Given the description of an element on the screen output the (x, y) to click on. 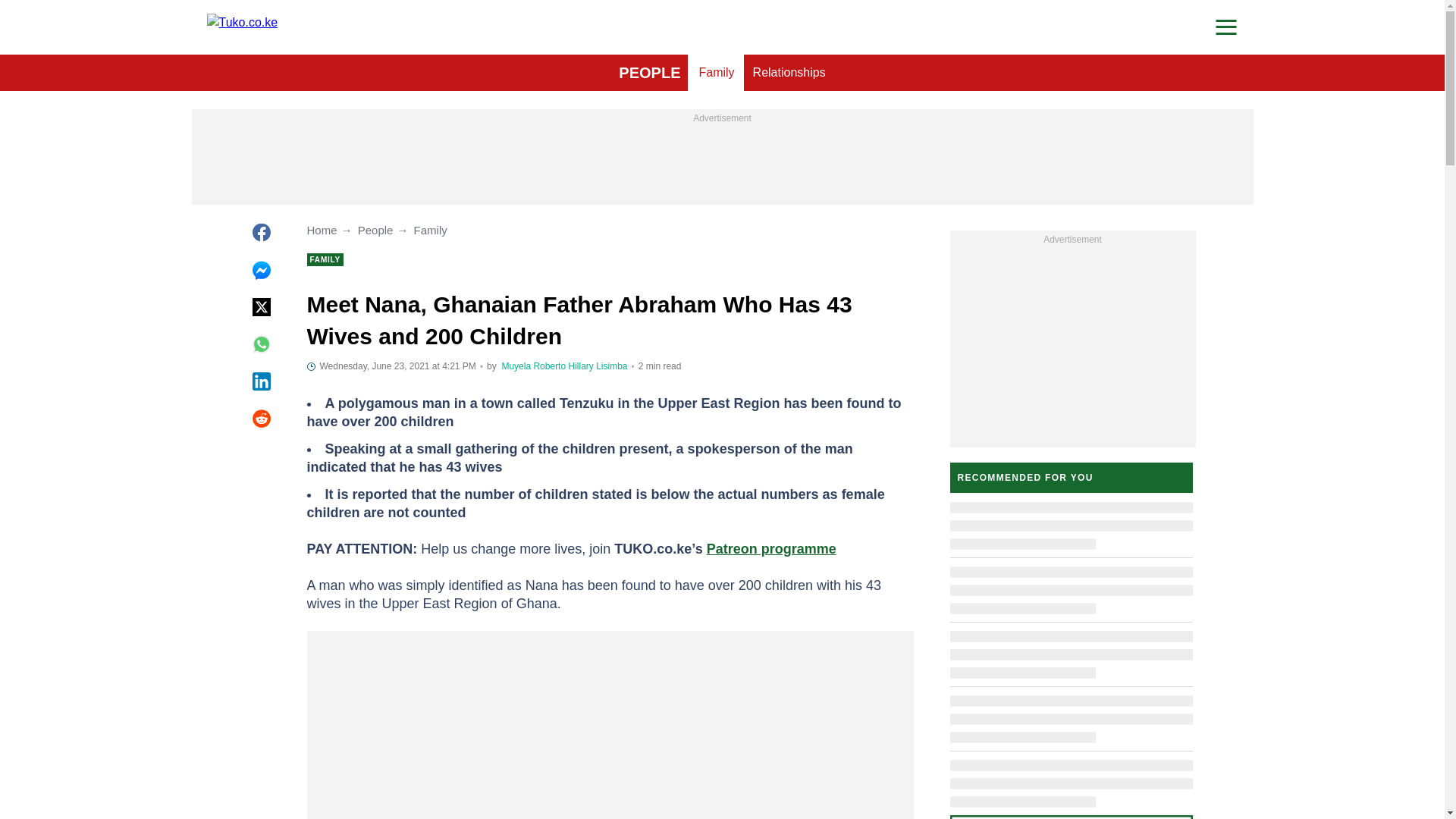
PEOPLE (649, 72)
Author page (533, 366)
Author page (597, 366)
Family (715, 72)
Relationships (789, 72)
